Given the description of an element on the screen output the (x, y) to click on. 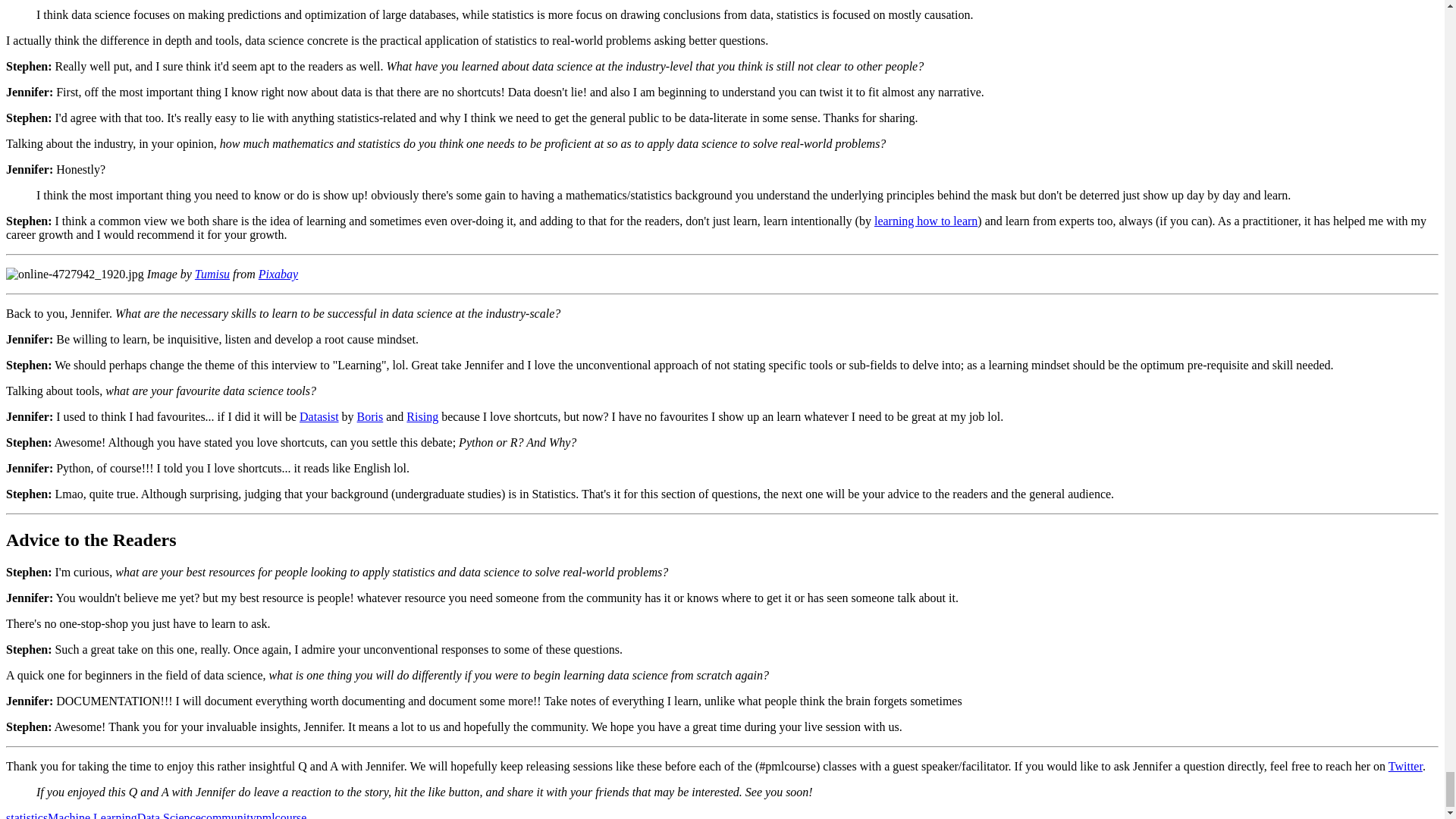
Boris (370, 416)
Rising (422, 416)
Pixabay (278, 273)
Datasist (319, 416)
Tumisu (212, 273)
Twitter (1405, 766)
learning how to learn (925, 220)
